Given the description of an element on the screen output the (x, y) to click on. 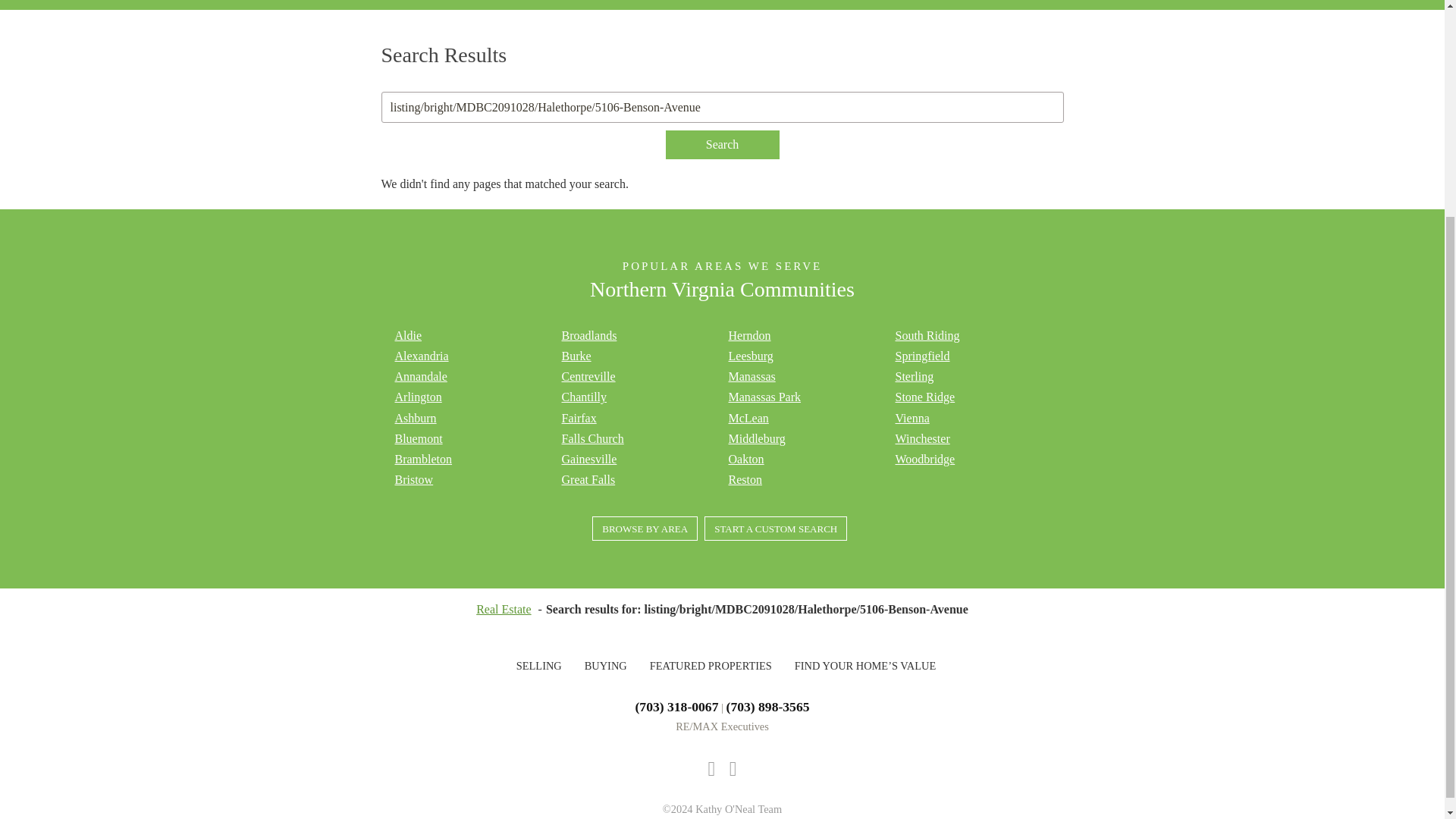
Search (721, 144)
Herndon (749, 335)
Middleburg (756, 438)
Leesburg (750, 355)
Bluemont (418, 438)
South Riding (927, 335)
Fairfax (577, 418)
Broadlands (587, 335)
Burke (575, 355)
Reston (744, 479)
